Given the description of an element on the screen output the (x, y) to click on. 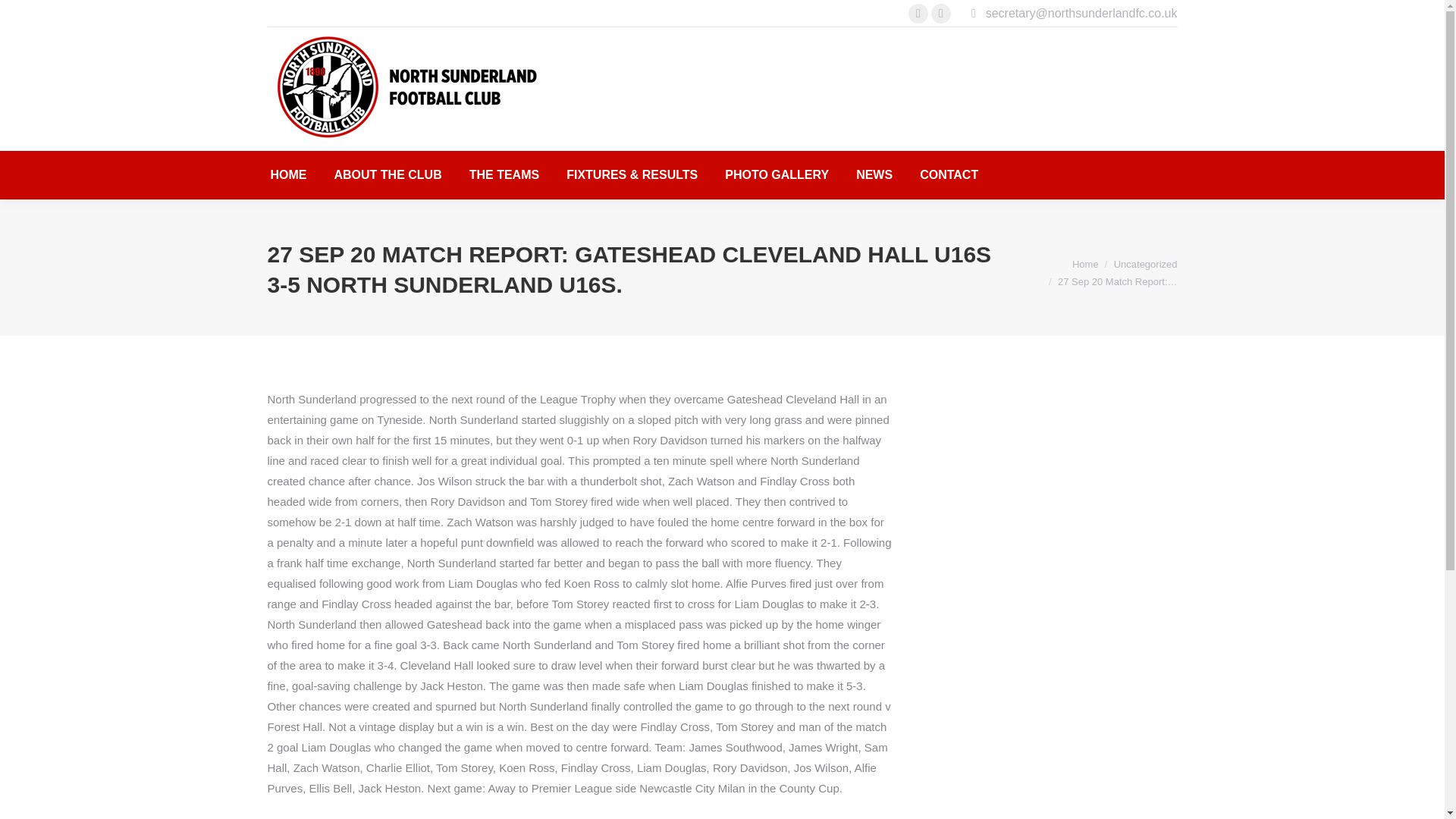
Facebook page opens in new window (918, 13)
PHOTO GALLERY (776, 174)
THE TEAMS (503, 174)
HOME (287, 174)
CONTACT (949, 174)
Twitter page opens in new window (940, 13)
Twitter page opens in new window (940, 13)
NEWS (874, 174)
ABOUT THE CLUB (387, 174)
Home (1085, 263)
